Given the description of an element on the screen output the (x, y) to click on. 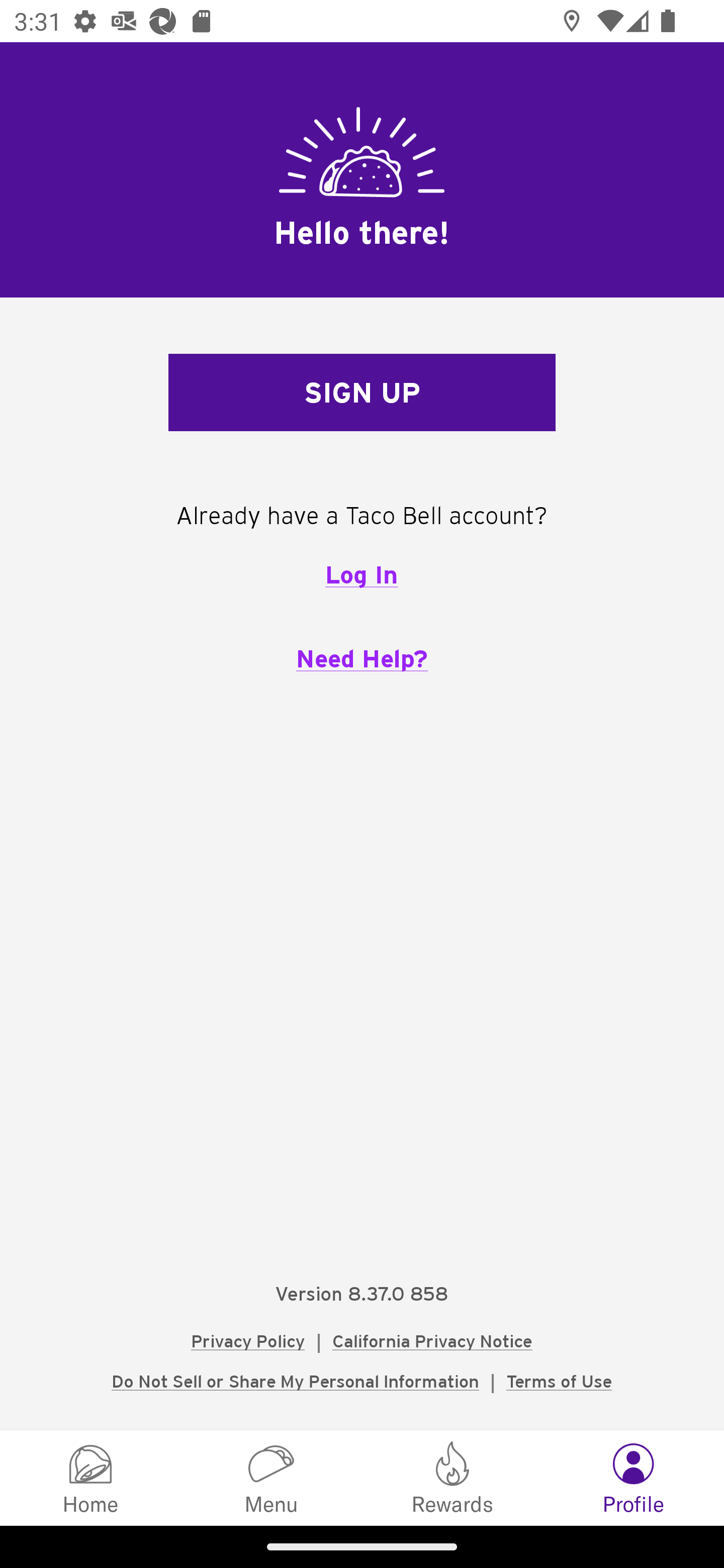
SIGN UP (361, 392)
Log In (361, 574)
Need Help? (361, 658)
Privacy Policy (248, 1341)
California Privacy Notice (432, 1341)
Do Not Sell or Share My Personal Information (295, 1381)
Terms of Use (558, 1381)
Home (90, 1476)
Menu (271, 1476)
Rewards (452, 1476)
My Info Profile (633, 1476)
